Given the description of an element on the screen output the (x, y) to click on. 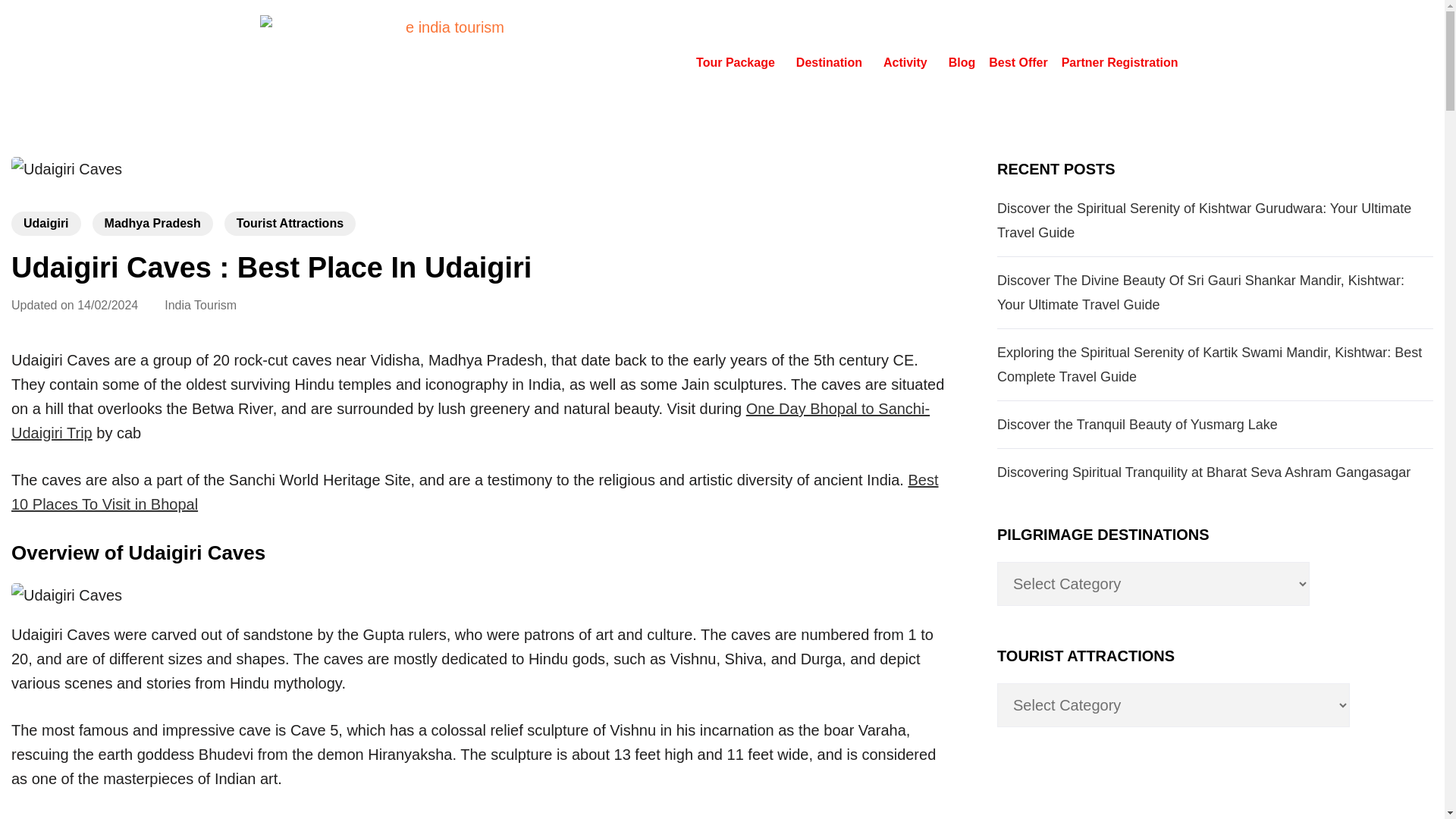
Destination (832, 62)
Tour Package (738, 62)
Activity (909, 62)
Udaigiri Caves : Best Place In Udaigiri 2 (66, 595)
Udaigiri Caves : Best Place In Udaigiri 1 (66, 168)
